Given the description of an element on the screen output the (x, y) to click on. 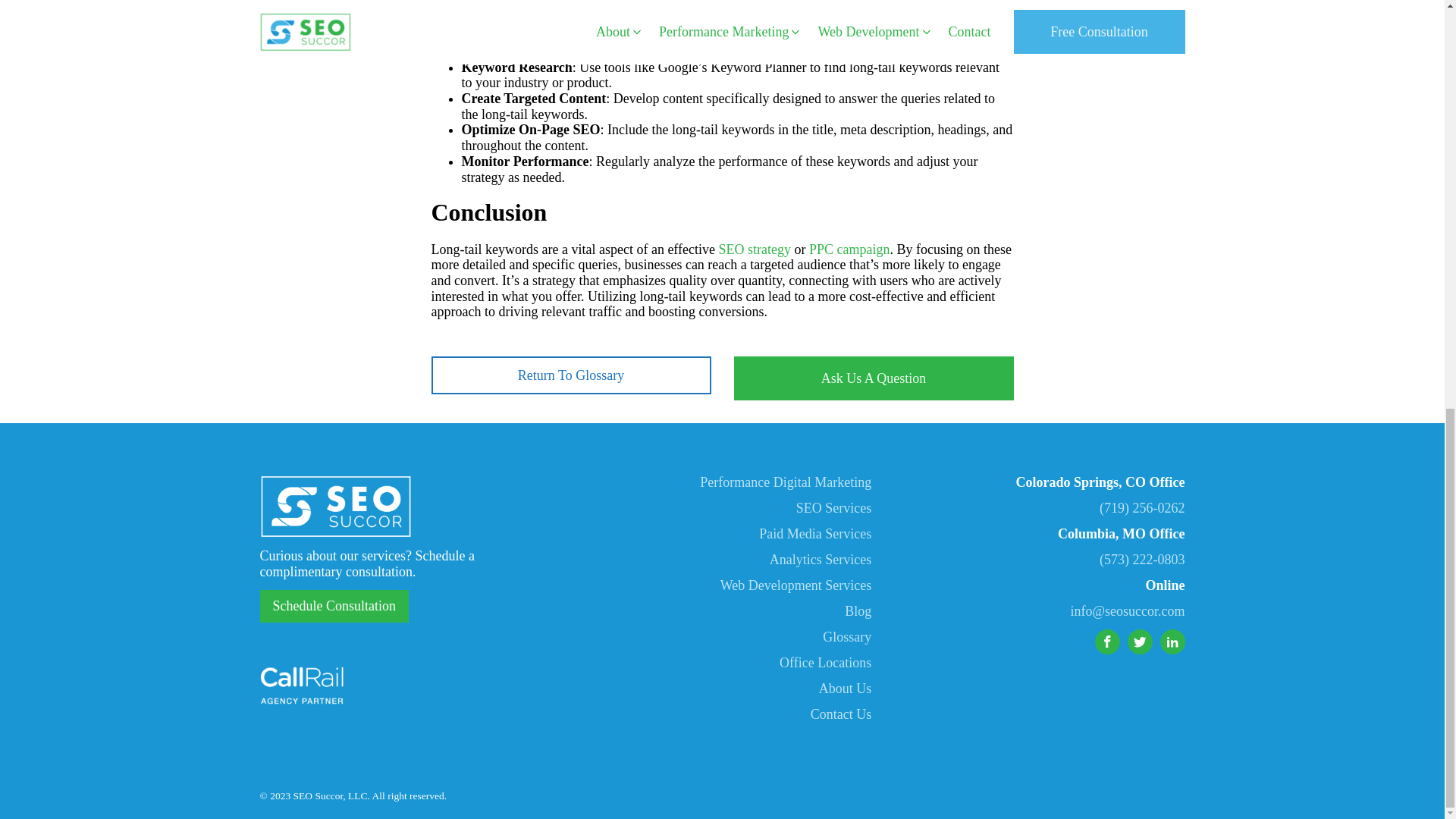
PPC campaign (849, 249)
SEO strategy (754, 249)
